Given the description of an element on the screen output the (x, y) to click on. 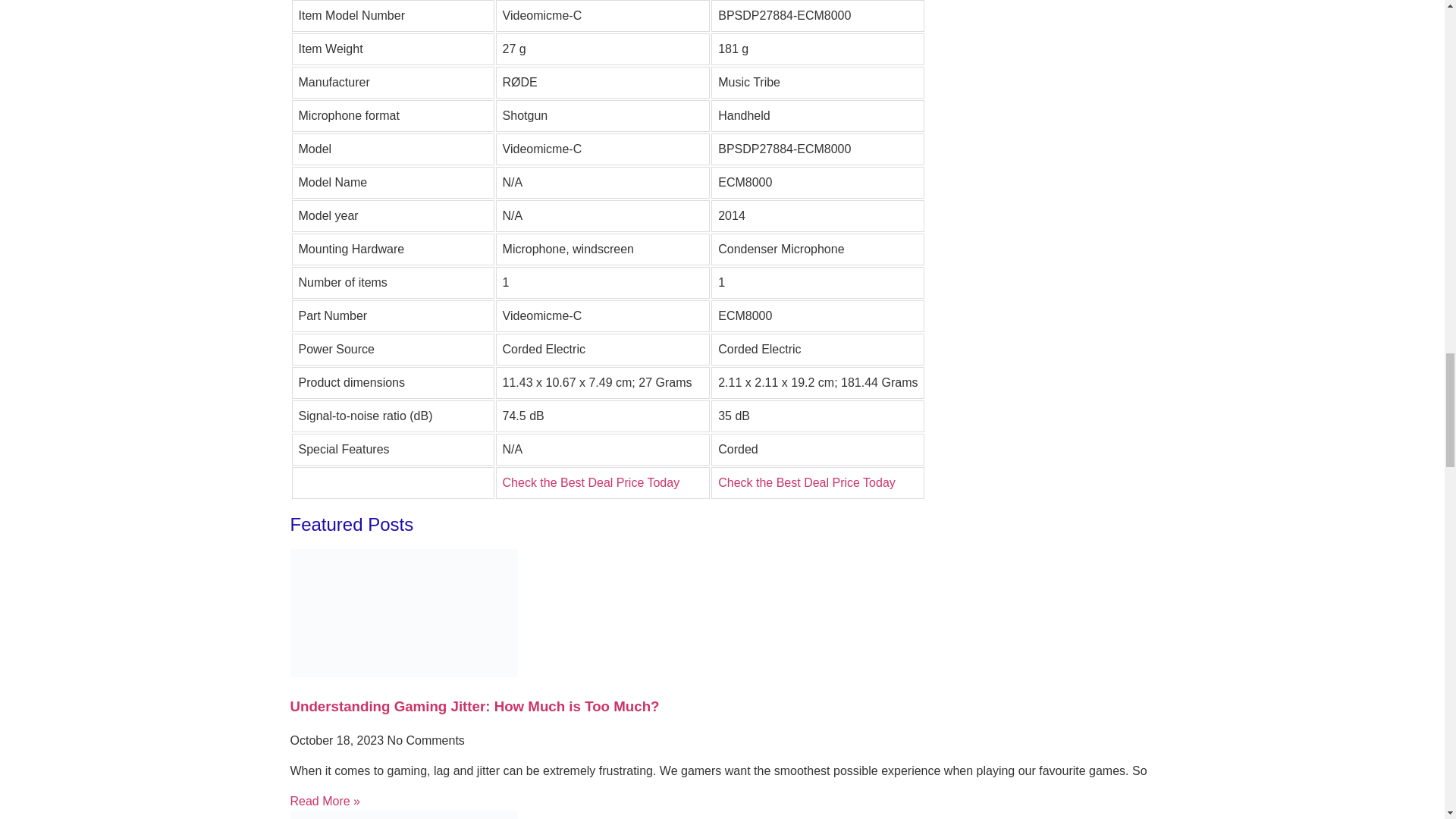
Check the Best Deal Price Today (590, 481)
Check the Best Deal Price Today (806, 481)
Understanding Gaming Jitter: How Much is Too Much? (474, 706)
